Given the description of an element on the screen output the (x, y) to click on. 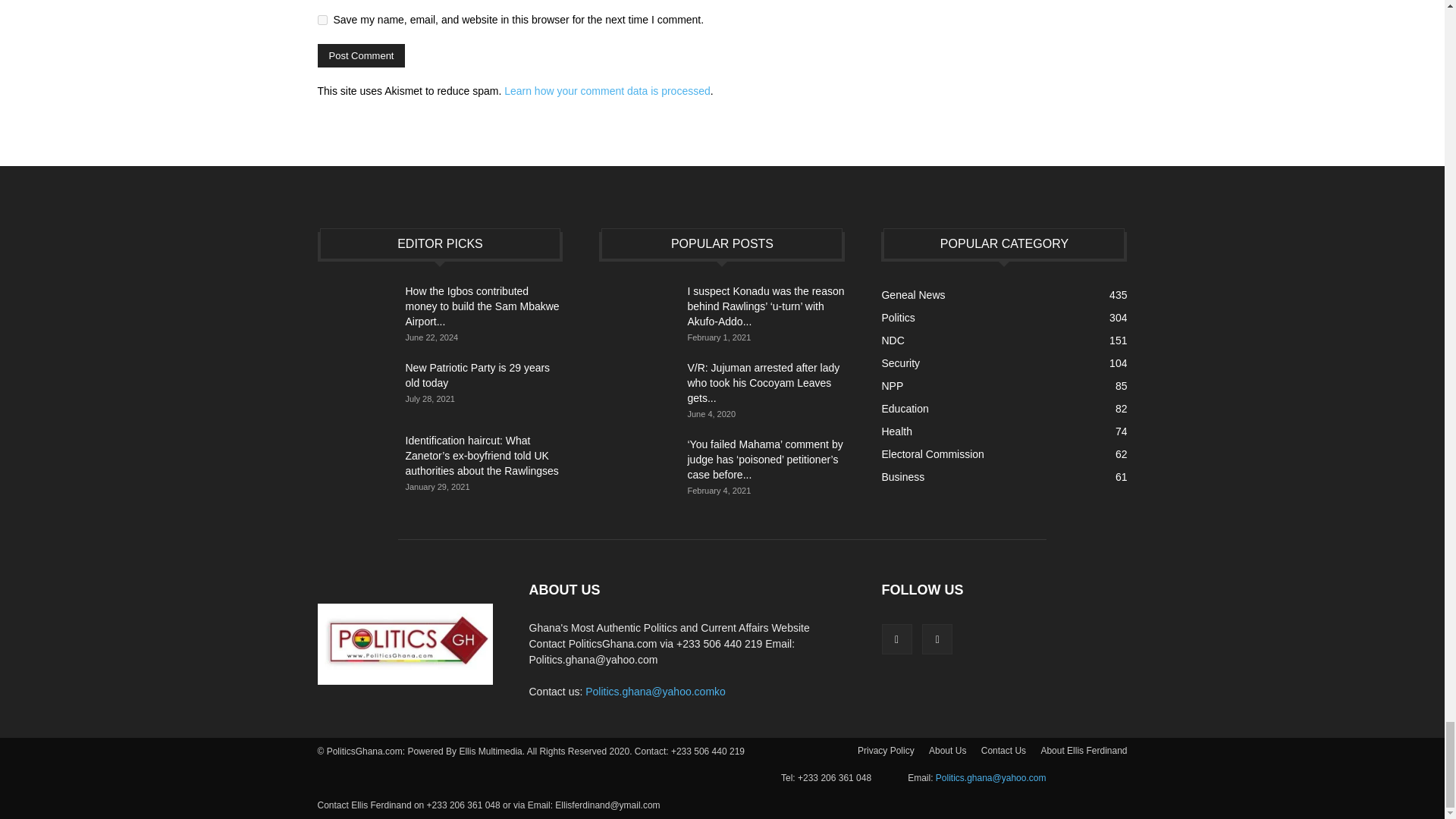
Post Comment (360, 55)
yes (321, 20)
